Given the description of an element on the screen output the (x, y) to click on. 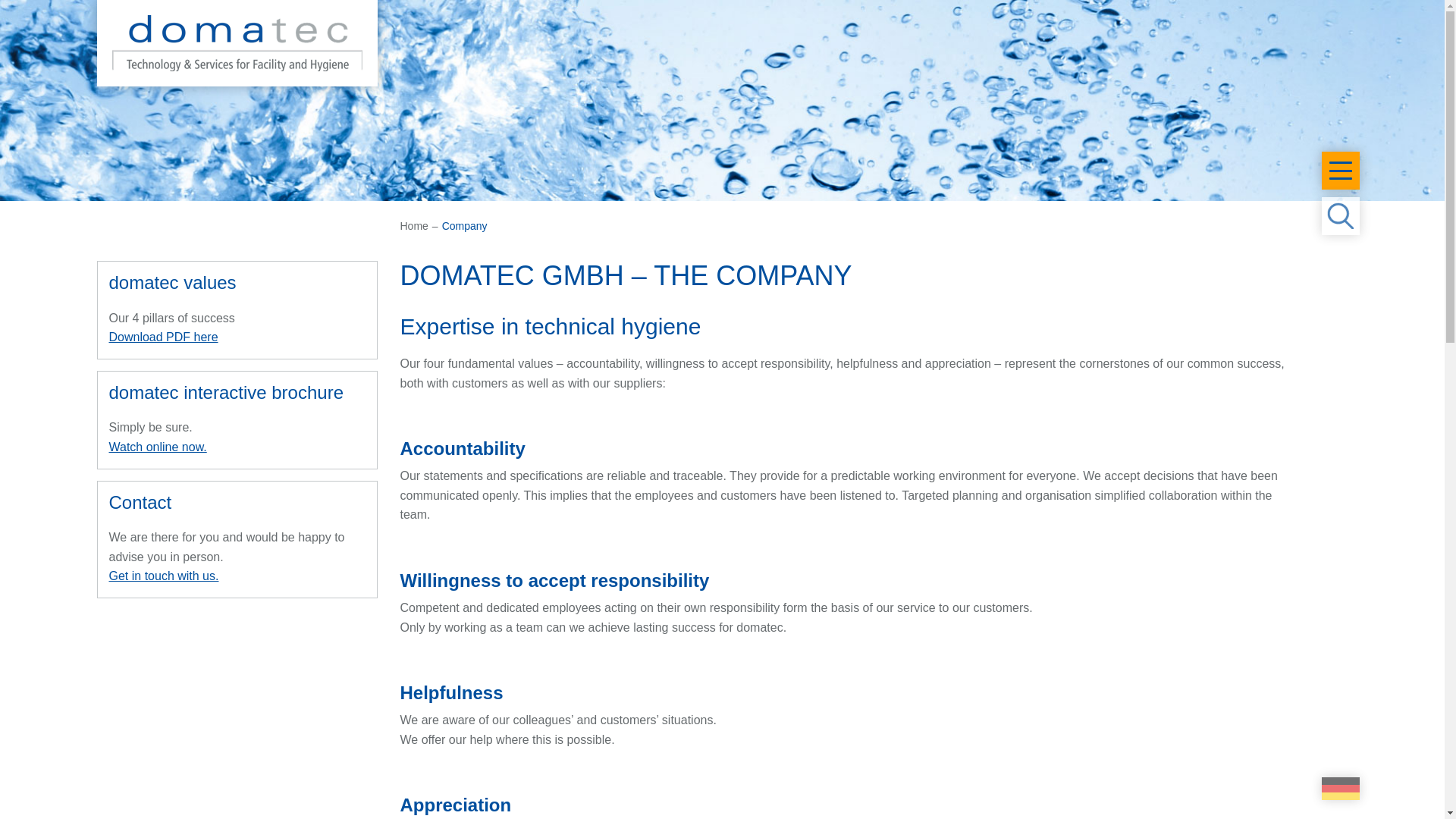
Opens internal link in current window (164, 575)
Initiates file download (157, 446)
Watch online now. (157, 446)
Download PDF here (163, 336)
Initiates file download (163, 336)
Home (414, 225)
Home (414, 225)
Toggle navigation (1339, 170)
Get in touch with us. (164, 575)
